Given the description of an element on the screen output the (x, y) to click on. 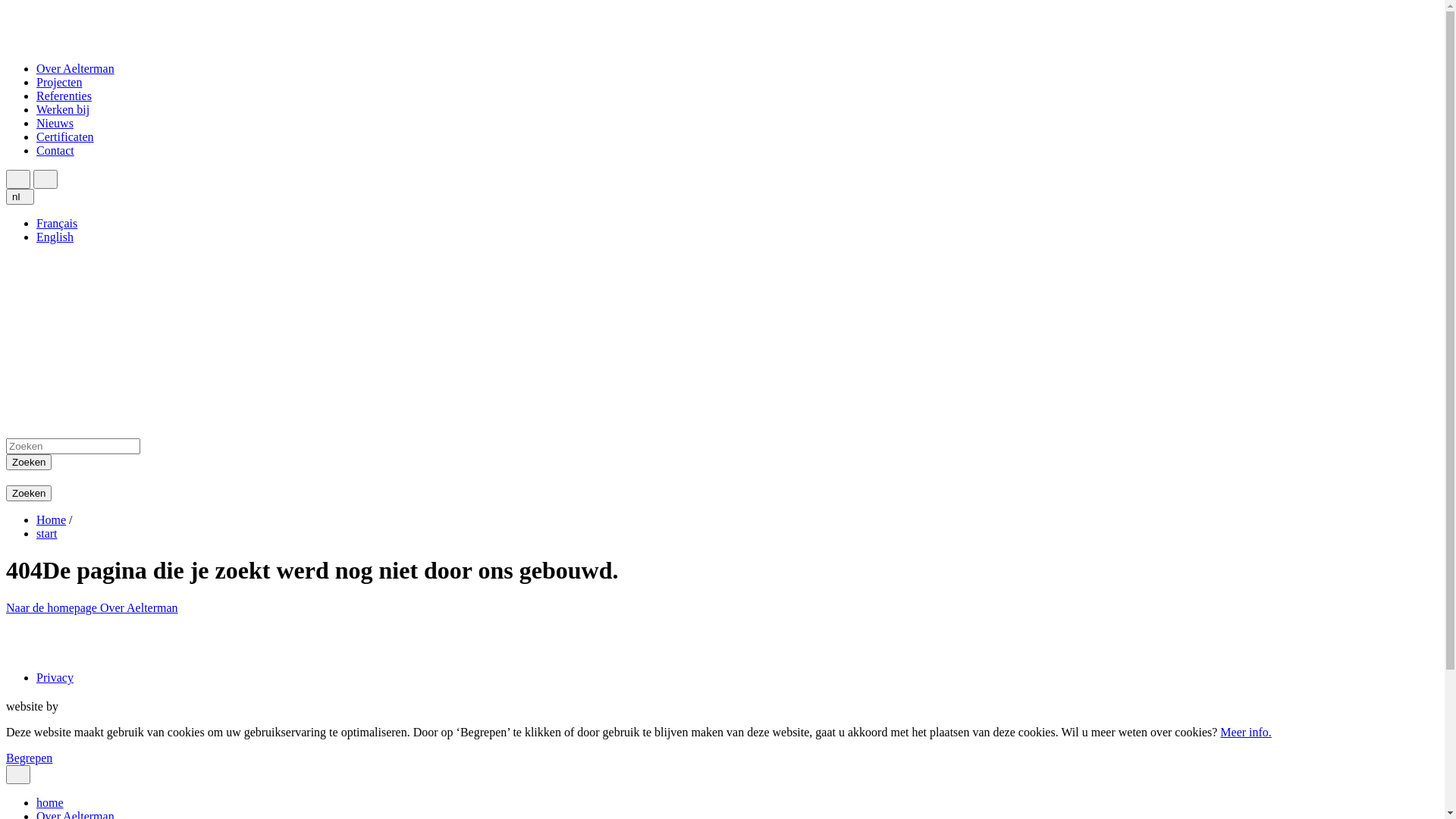
Contact Element type: text (55, 150)
Zoeken Element type: text (28, 493)
Referenties Element type: text (63, 95)
home Element type: text (49, 802)
Naar de homepage Element type: text (53, 607)
nl Element type: text (20, 196)
Meer info. Element type: text (1245, 731)
Home Element type: text (50, 519)
start Element type: text (46, 533)
Zoeken Element type: text (28, 462)
Privacy Element type: text (54, 677)
Werken bij Element type: text (62, 109)
Over Aelterman Element type: text (139, 607)
Begrepen Element type: text (29, 757)
Certificaten Element type: text (65, 136)
Over Aelterman Element type: text (75, 68)
English Element type: text (54, 236)
Projecten Element type: text (58, 81)
Nieuws Element type: text (54, 122)
